Given the description of an element on the screen output the (x, y) to click on. 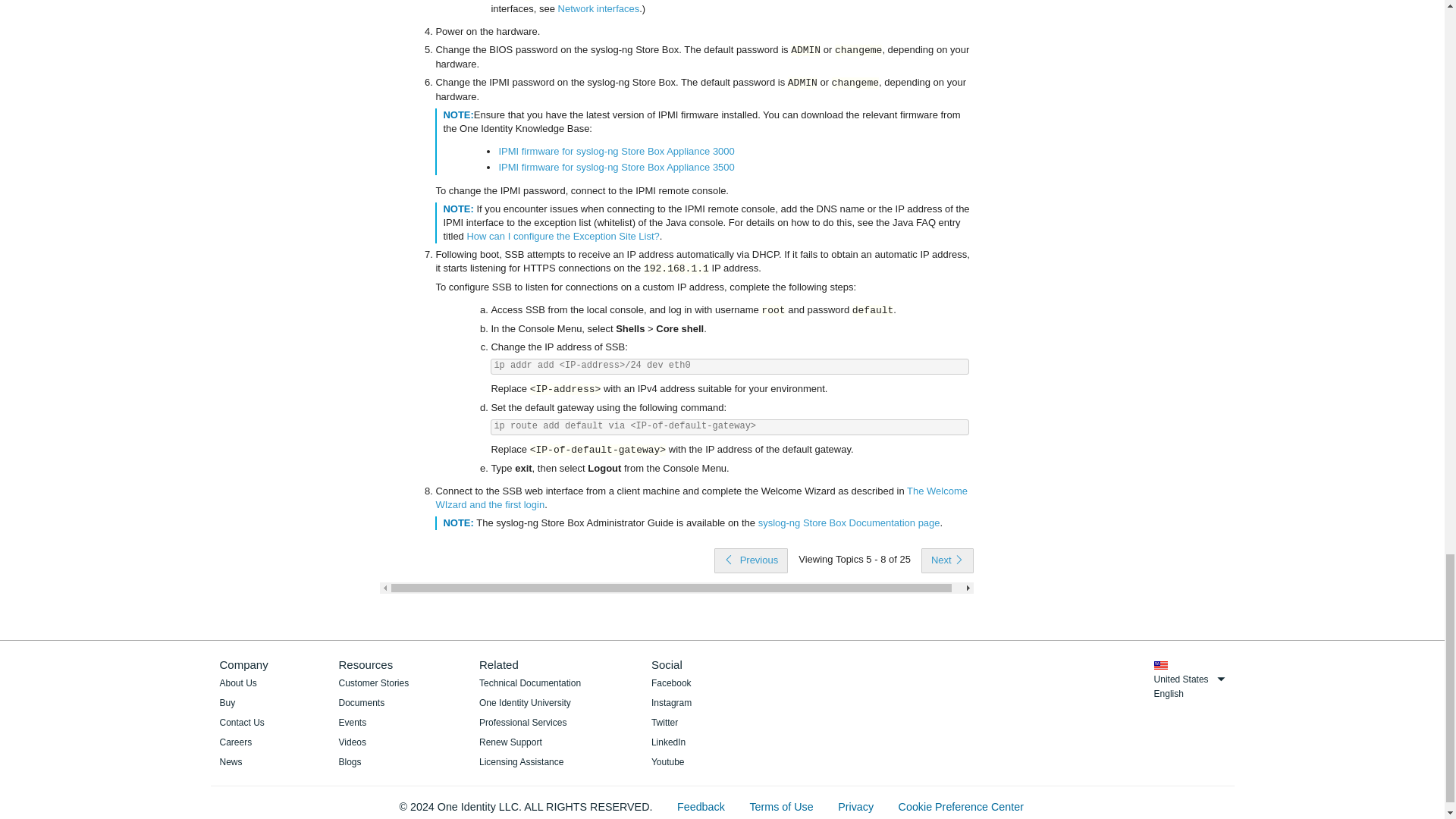
United States web site version is selected (1160, 664)
